Given the description of an element on the screen output the (x, y) to click on. 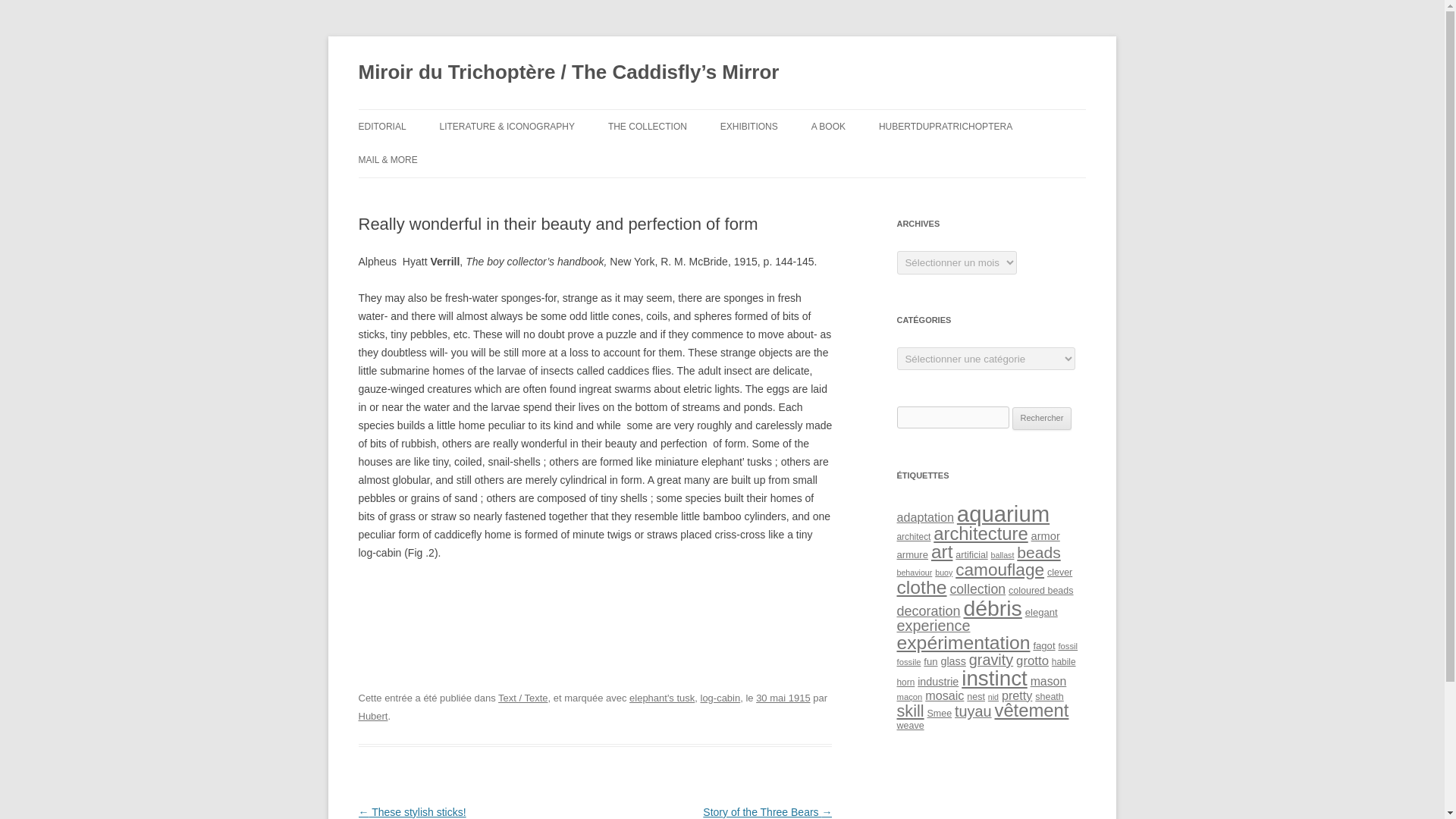
53 sujets (942, 551)
21 sujets (971, 554)
EDITORIAL (382, 126)
A BOOK (827, 126)
22 sujets (912, 554)
25 sujets (1044, 535)
elephant's tusk (661, 697)
20 sujets (913, 536)
18 sujets (913, 572)
WE SEARCH (433, 192)
